Given the description of an element on the screen output the (x, y) to click on. 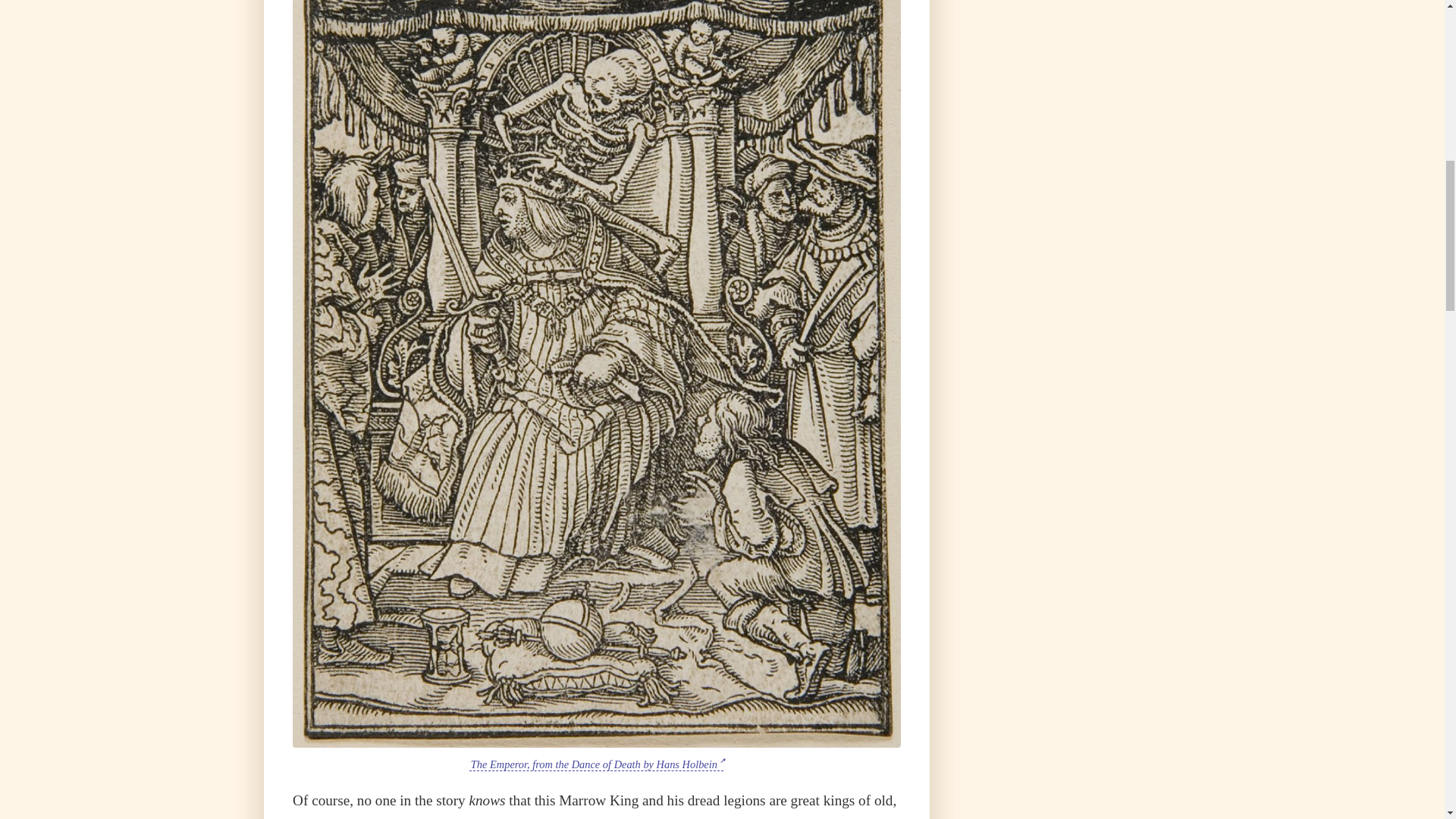
The Emperor, from the Dance of Death by Hans Holbein (595, 764)
